Given the description of an element on the screen output the (x, y) to click on. 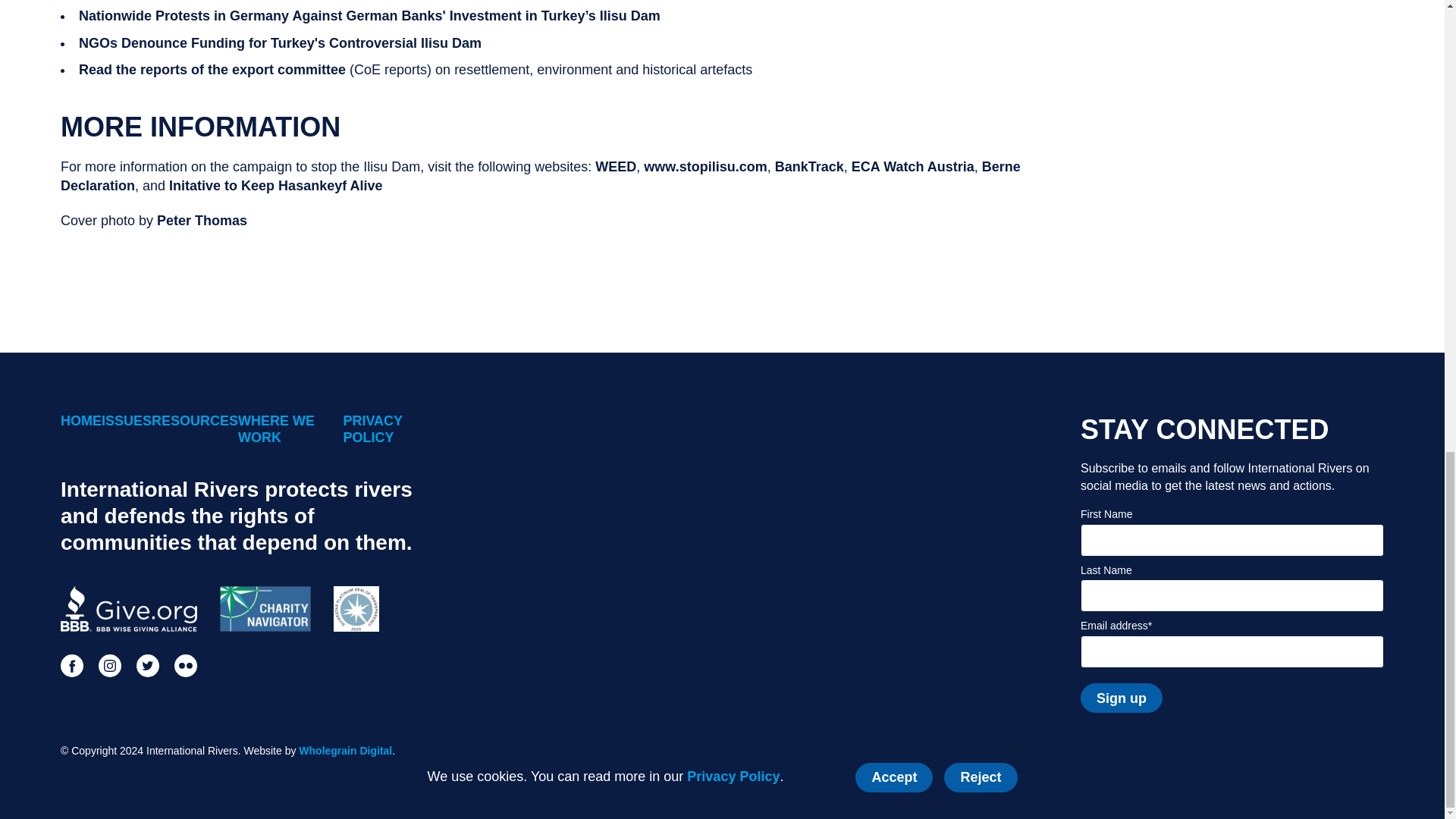
Berne Declaration (540, 176)
NGOs Denounce Funding for Turkey's Controversial Ilisu Dam (279, 43)
WEED (615, 166)
Peter Thomas (202, 220)
Initative to Keep Hasankeyf Alive (274, 185)
BankTrack (809, 166)
Read the reports of the export committee (212, 69)
www.stopilisu.com (705, 166)
ECA Watch Austria (912, 166)
